Given the description of an element on the screen output the (x, y) to click on. 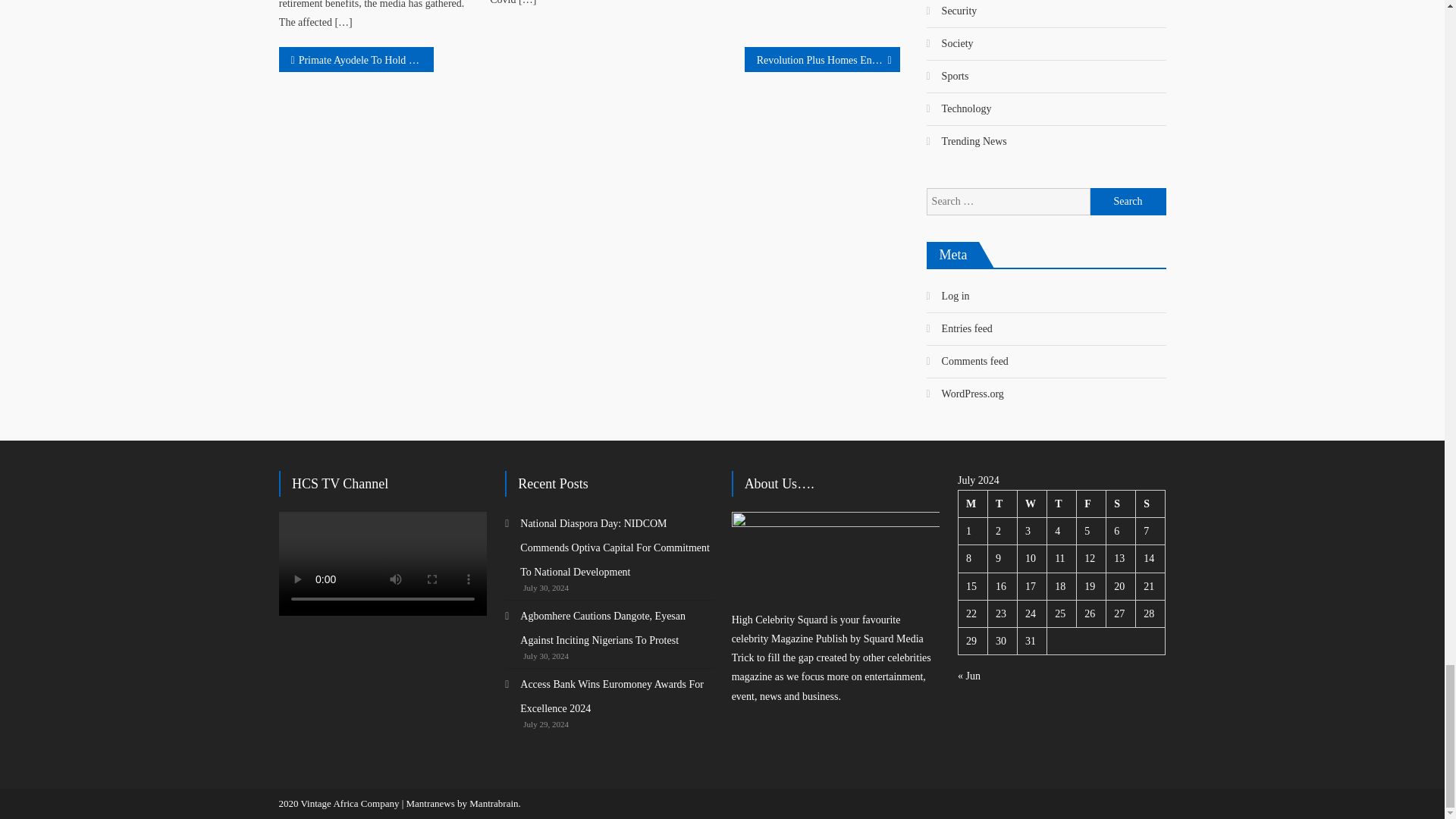
Search (1128, 201)
Tuesday (1002, 503)
Search (1128, 201)
Monday (972, 503)
Wednesday (1031, 503)
Friday (1091, 503)
Thursday (1061, 503)
